Given the description of an element on the screen output the (x, y) to click on. 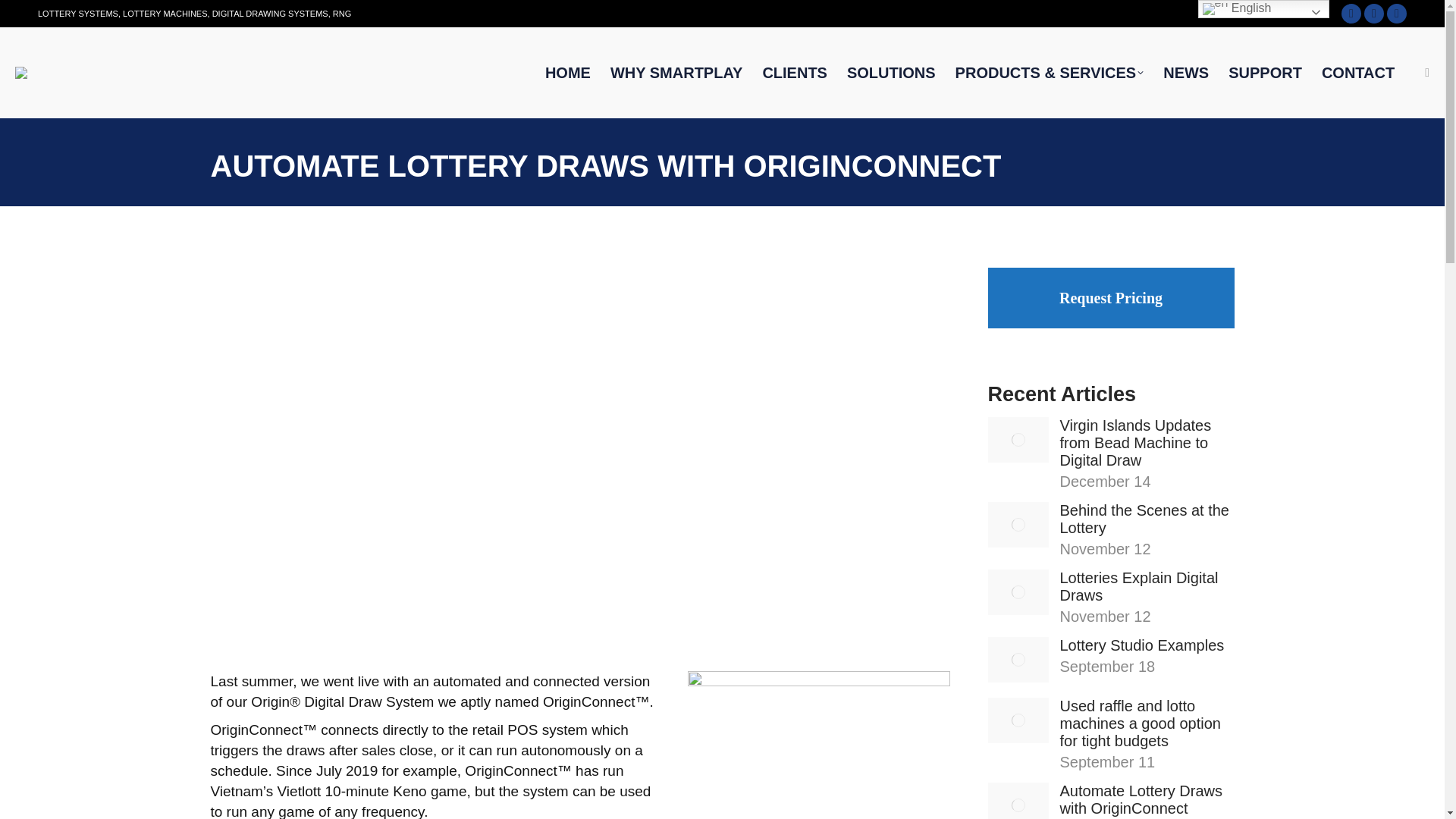
YouTube page opens in new window (1374, 13)
YouTube page opens in new window (1374, 13)
Facebook page opens in new window (1350, 13)
CONTACT (1358, 72)
WHY SMARTPLAY (675, 72)
Vimeo page opens in new window (1396, 13)
SOLUTIONS (890, 72)
Go! (23, 15)
HOME (567, 72)
NEWS (1185, 72)
Facebook page opens in new window (1350, 13)
CLIENTS (794, 72)
SUPPORT (1264, 72)
Vimeo page opens in new window (1396, 13)
